Given the description of an element on the screen output the (x, y) to click on. 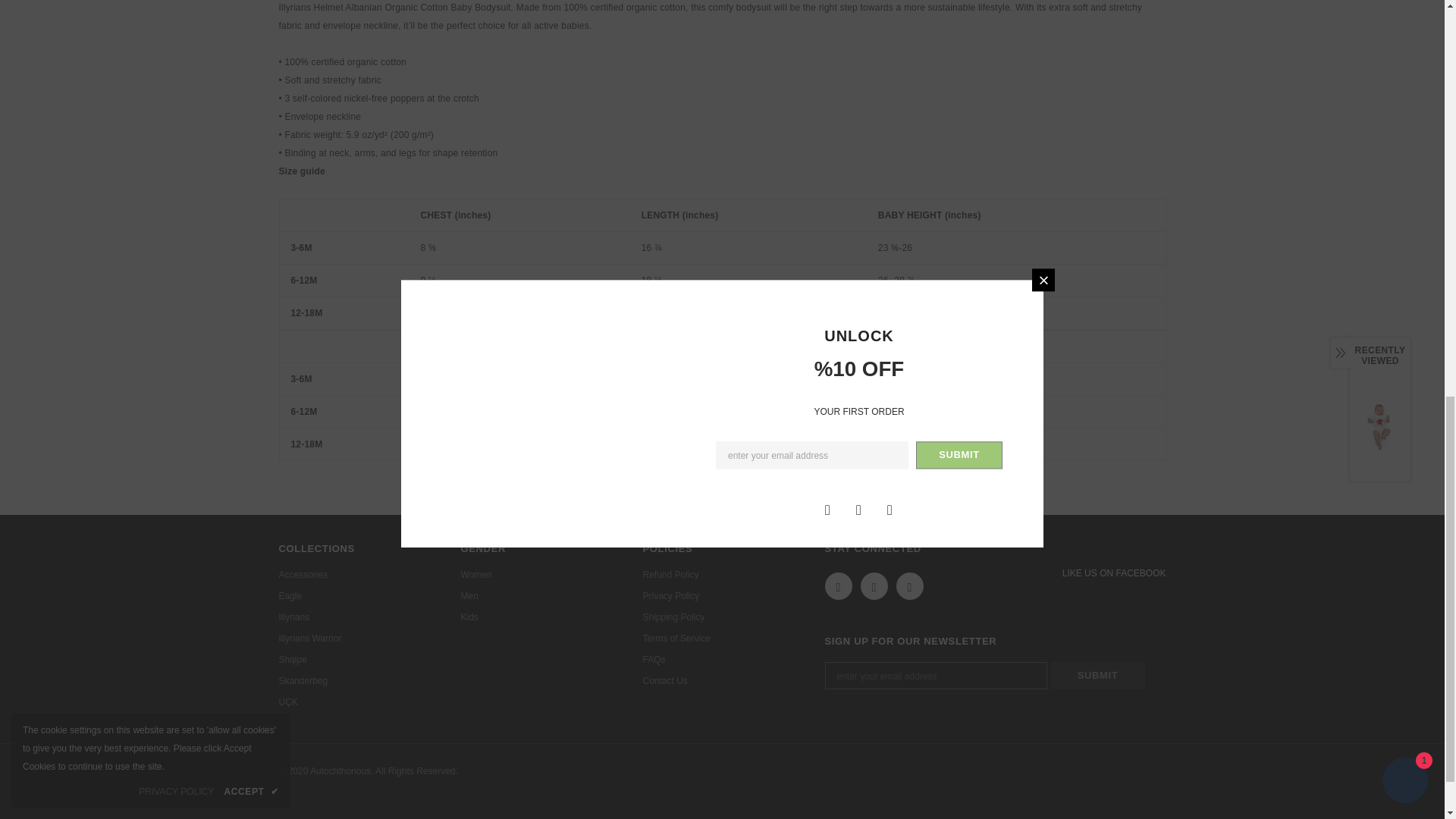
Submit (1097, 674)
